Given the description of an element on the screen output the (x, y) to click on. 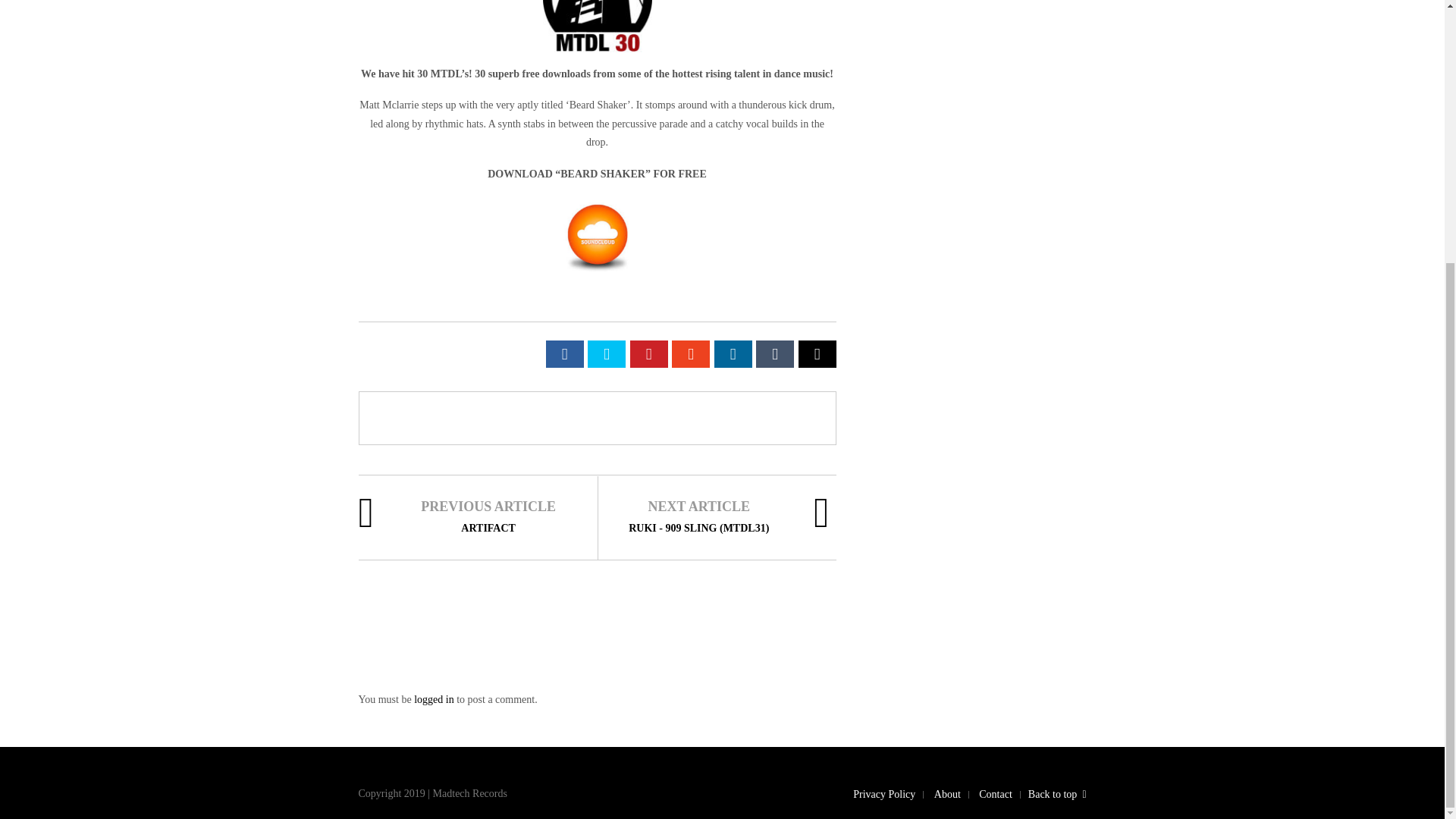
About (947, 794)
Back to top (1056, 794)
logged in (433, 699)
ARTIFACT (488, 527)
Contact (994, 794)
Privacy Policy (884, 794)
